Given the description of an element on the screen output the (x, y) to click on. 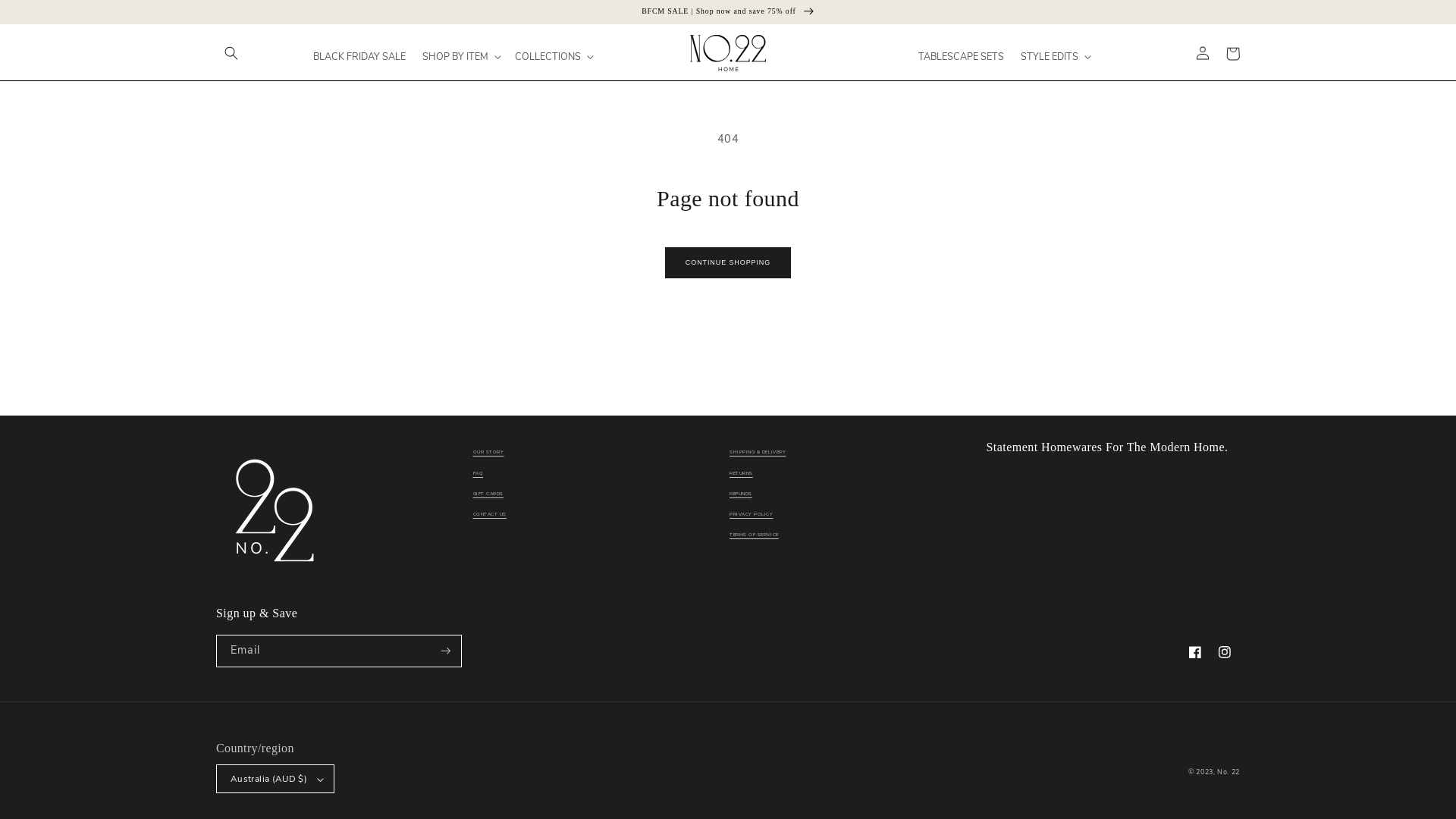
TERMS OF SERVICE Element type: text (753, 534)
Australia (AUD $) Element type: text (275, 778)
OUR STORY Element type: text (488, 454)
No. 22 Element type: text (1228, 771)
REFUNDS Element type: text (740, 493)
BLACK FRIDAY SALE Element type: text (359, 56)
RETURNS Element type: text (741, 472)
Facebook Element type: text (1194, 652)
GIFT CARDS Element type: text (488, 493)
Instagram Element type: text (1224, 652)
CONTINUE SHOPPING Element type: text (727, 262)
SHIPPING & DELIVERY Element type: text (757, 454)
Log in Element type: text (1203, 53)
PRIVACY POLICY Element type: text (751, 514)
Cart Element type: text (1232, 53)
TABLESCAPE SETS Element type: text (961, 56)
FAQ Element type: text (478, 472)
CONTACT US Element type: text (489, 514)
